Given the description of an element on the screen output the (x, y) to click on. 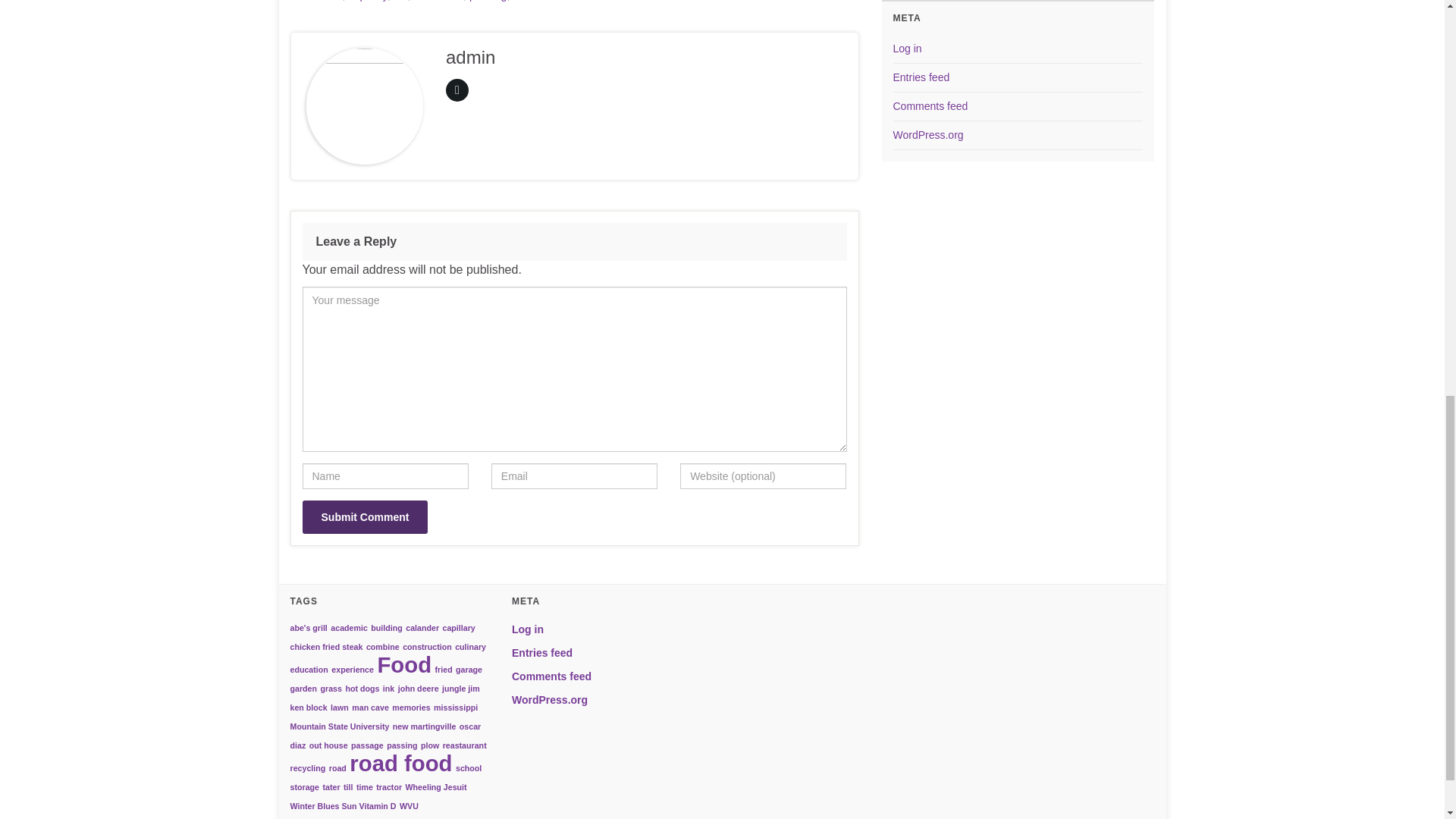
Submit Comment (364, 516)
passing (487, 0)
Log in (907, 48)
Submit Comment (364, 516)
capillary (367, 0)
Entries feed (921, 77)
Comments feed (930, 105)
time (523, 0)
oscar diaz (438, 0)
calander (321, 0)
